Given the description of an element on the screen output the (x, y) to click on. 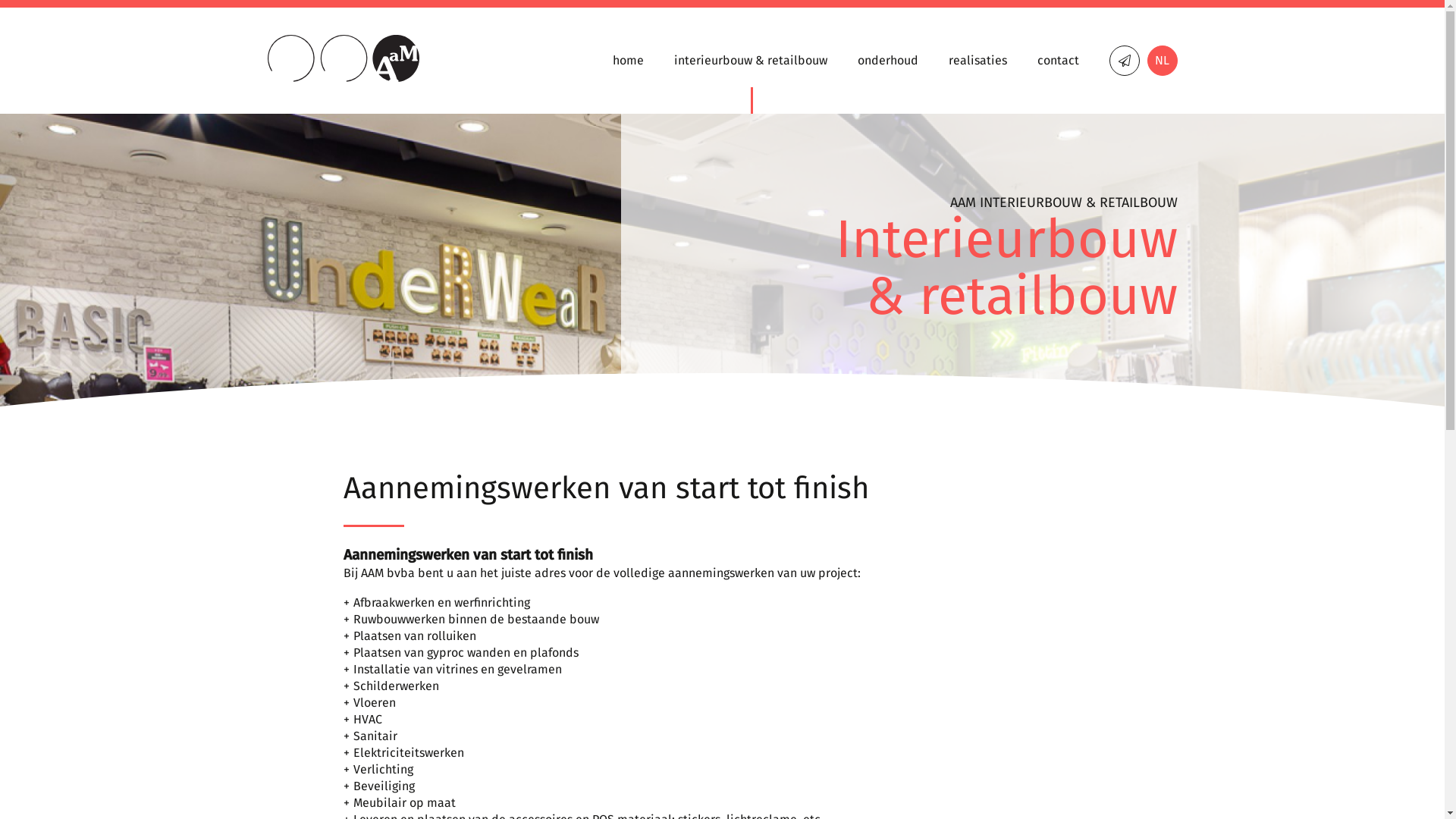
realisaties
  Element type: text (976, 82)
NL Element type: text (1161, 60)
interieurbouw & retailbouw
  Element type: text (749, 82)
onderhoud
  Element type: text (886, 82)
home
  Element type: text (627, 82)
contact
  Element type: text (1058, 82)
